Given the description of an element on the screen output the (x, y) to click on. 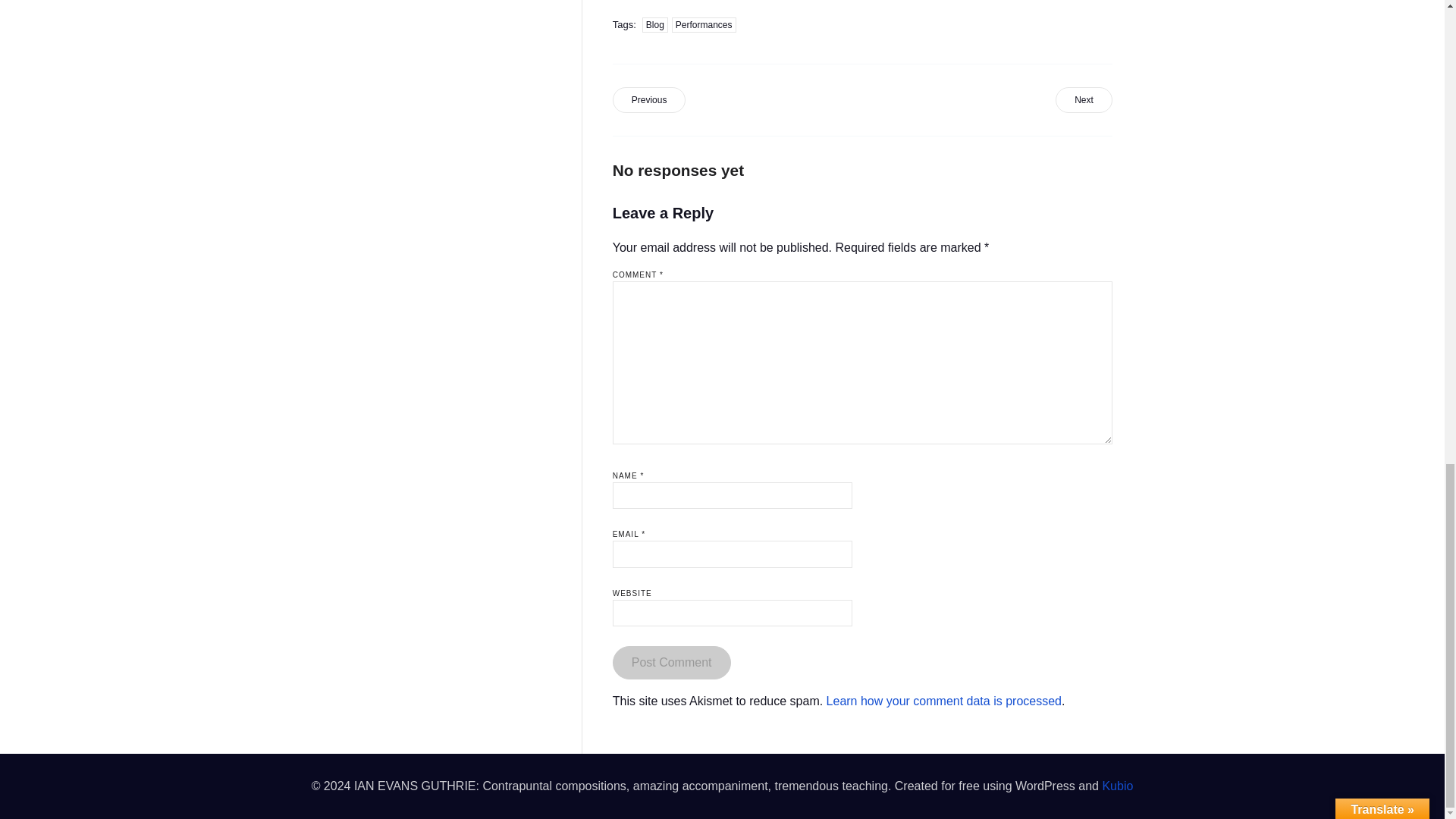
Post Comment (671, 662)
